Given the description of an element on the screen output the (x, y) to click on. 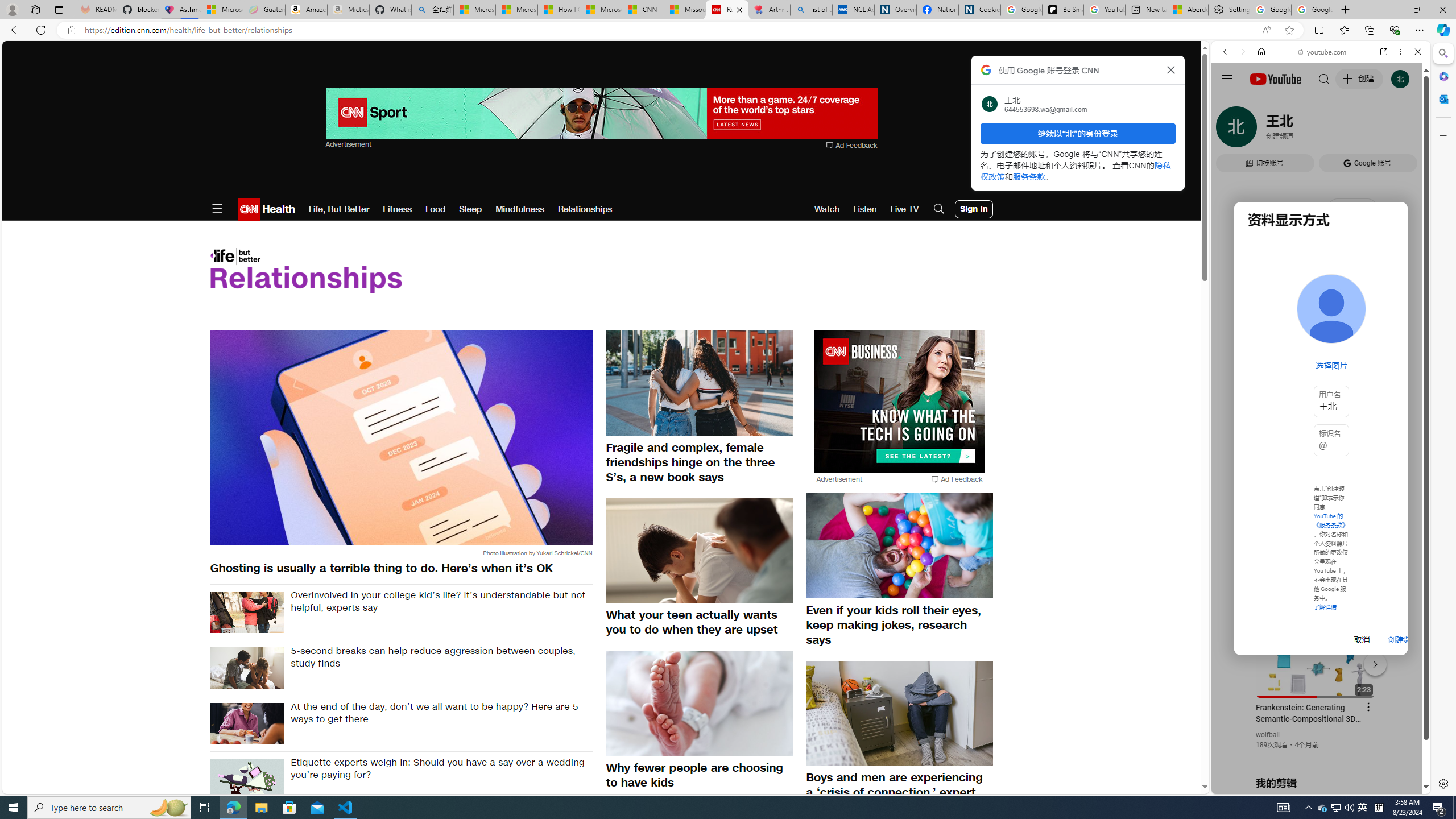
Ghosting Illo-v01.jpg (400, 437)
Why fewer people are choosing to have kids (699, 775)
Open Menu Icon (216, 208)
youtube.com (1322, 51)
Cookies (979, 9)
Search Filter, VIDEOS (1300, 129)
Search the web (1326, 78)
Health (277, 209)
Aberdeen, Hong Kong SAR hourly forecast | Microsoft Weather (1186, 9)
Music (1320, 309)
